Given the description of an element on the screen output the (x, y) to click on. 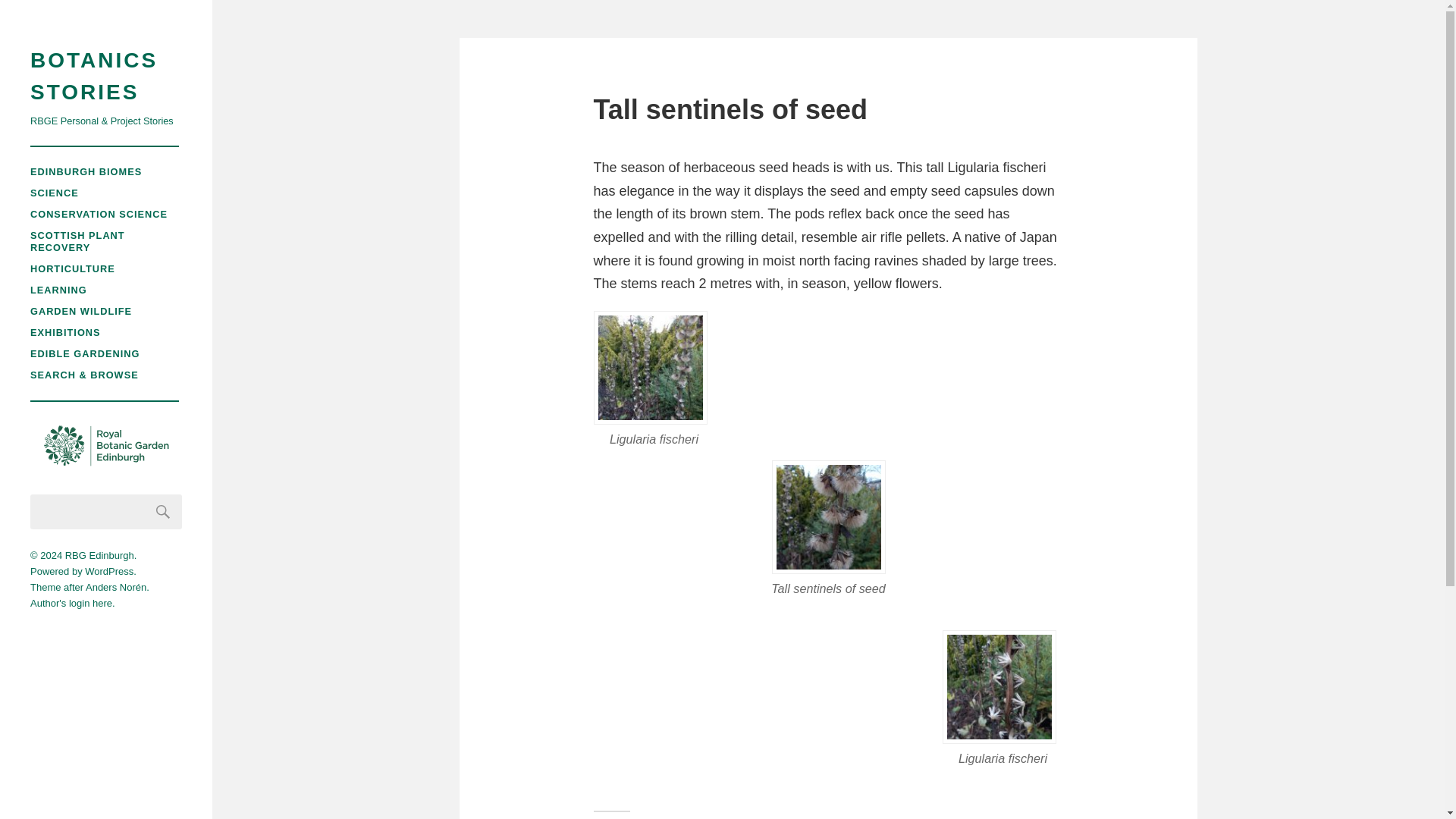
Author's login here. (72, 603)
LEARNING (58, 289)
RBG Edinburgh (99, 555)
Search (163, 511)
HORTICULTURE (72, 268)
GARDEN WILDLIFE (81, 310)
Search (163, 511)
BOTANICS STORIES (106, 76)
EDINBURGH BIOMES (85, 171)
EDIBLE GARDENING (84, 353)
